Given the description of an element on the screen output the (x, y) to click on. 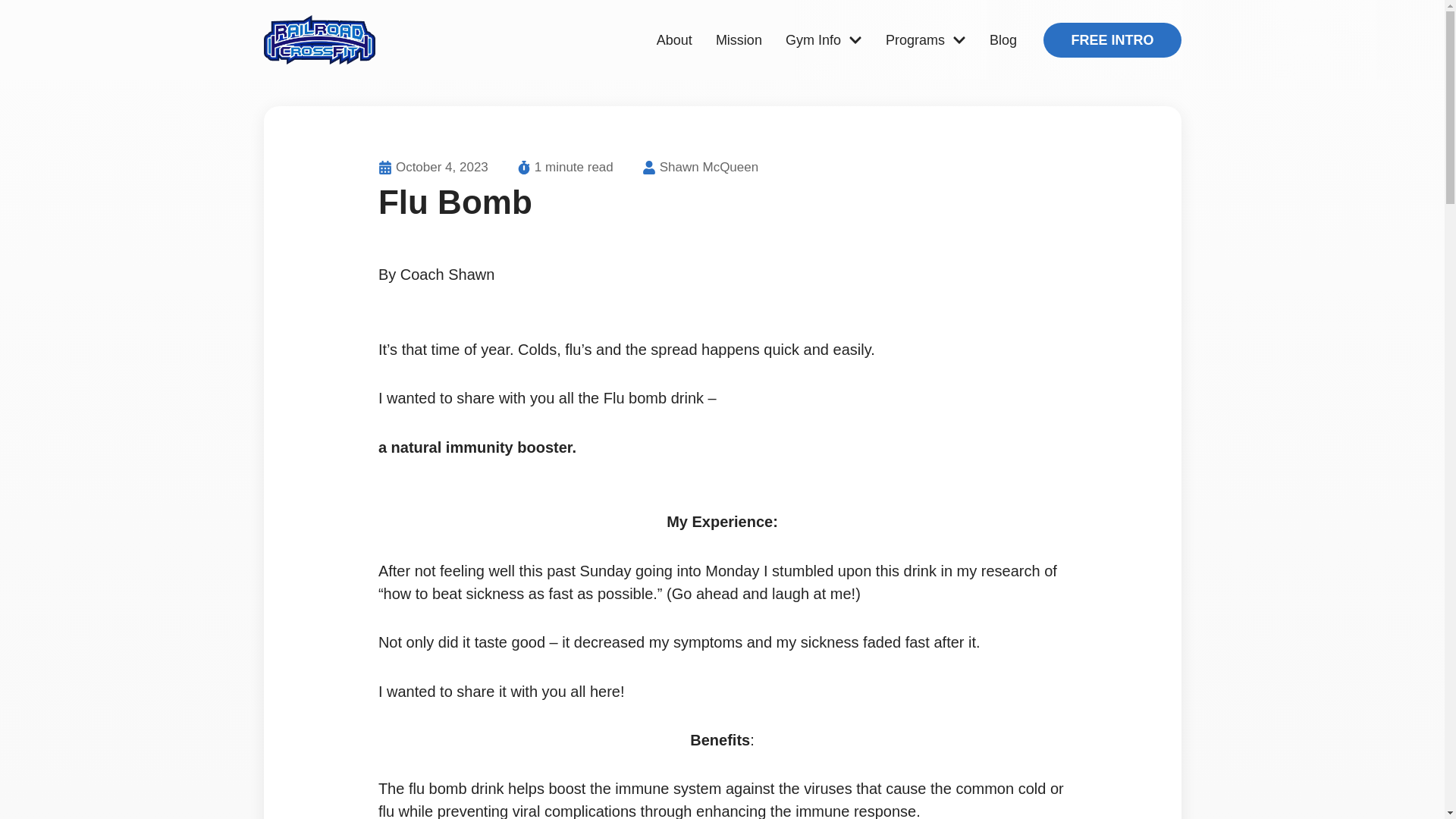
Mission (738, 39)
Programs (925, 39)
About (674, 39)
Blog (1003, 39)
FREE INTRO (1111, 39)
Gym Info (823, 39)
